Given the description of an element on the screen output the (x, y) to click on. 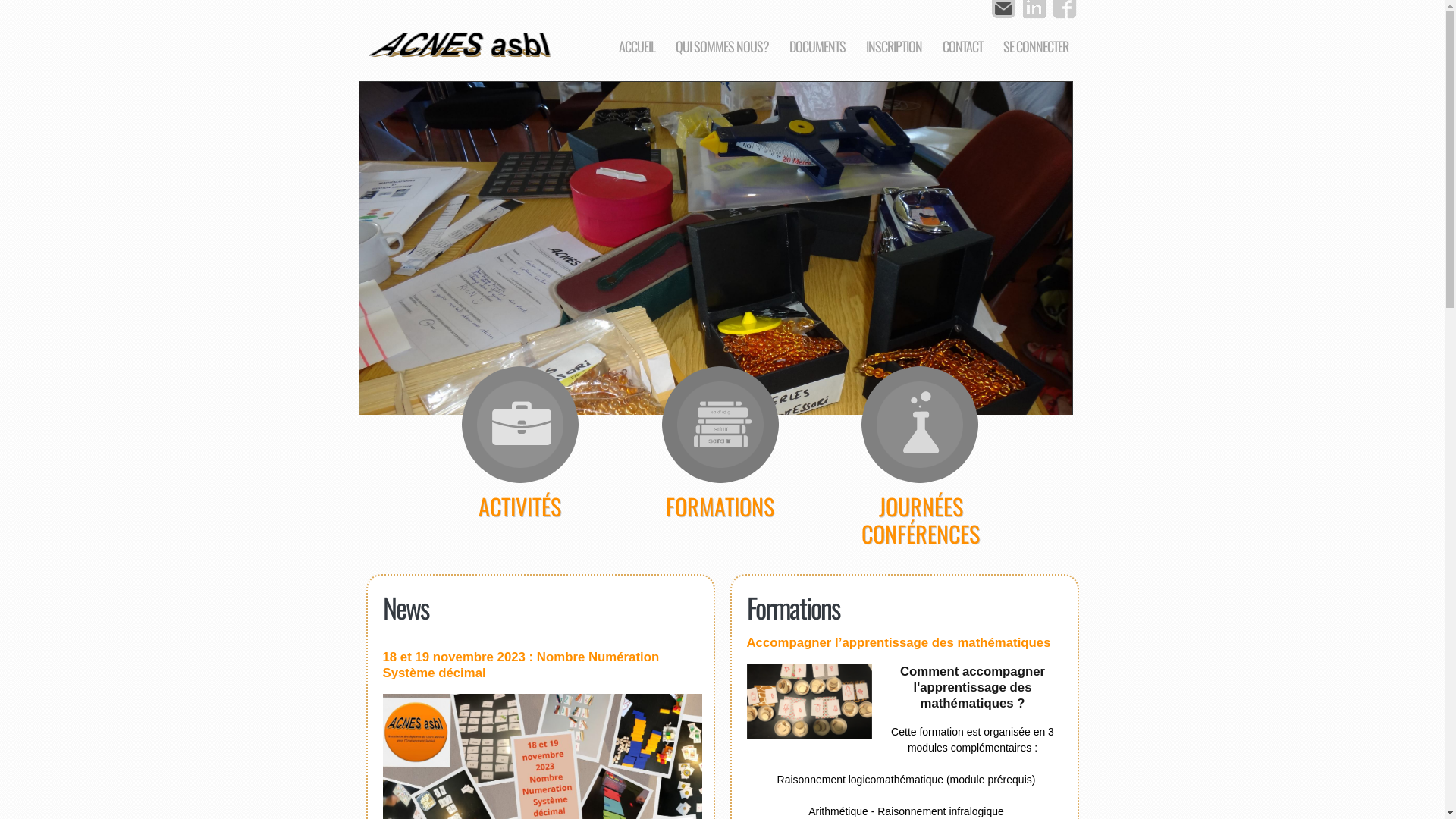
FORMATIONS Element type: text (719, 456)
CONTACT Element type: text (961, 46)
A.C.N.E.S. Element type: hover (459, 42)
QUI SOMMES NOUS? Element type: text (721, 46)
DOCUMENTS Element type: text (816, 46)
INSCRIPTION Element type: text (893, 46)
ACCUEIL Element type: text (636, 46)
SE CONNECTER Element type: text (1034, 46)
